Given the description of an element on the screen output the (x, y) to click on. 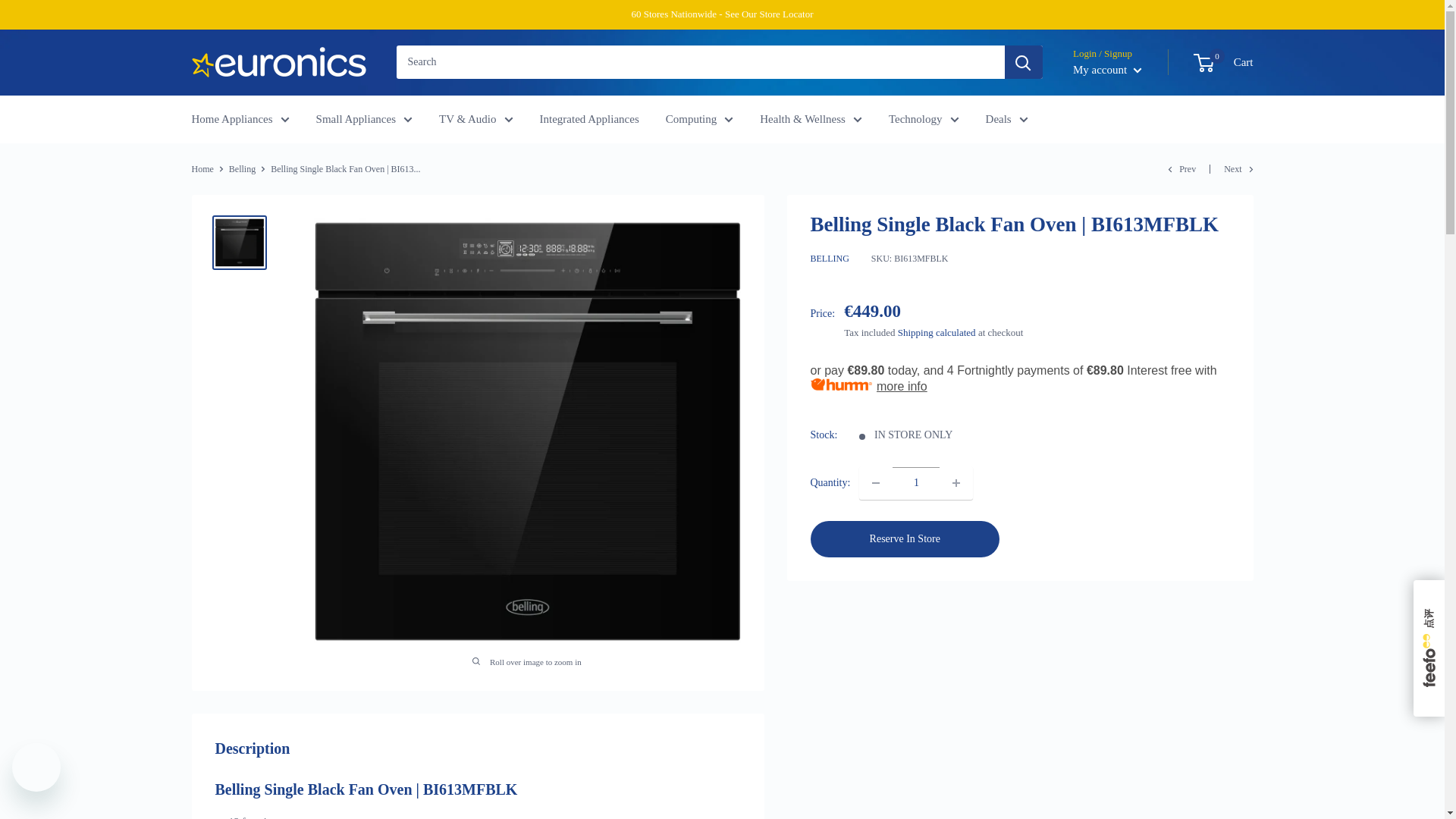
1 (915, 482)
Decrease quantity by 1 (875, 482)
Increase quantity by 1 (956, 482)
60 Stores Nationwide - See Our Store Locator (721, 14)
